Given the description of an element on the screen output the (x, y) to click on. 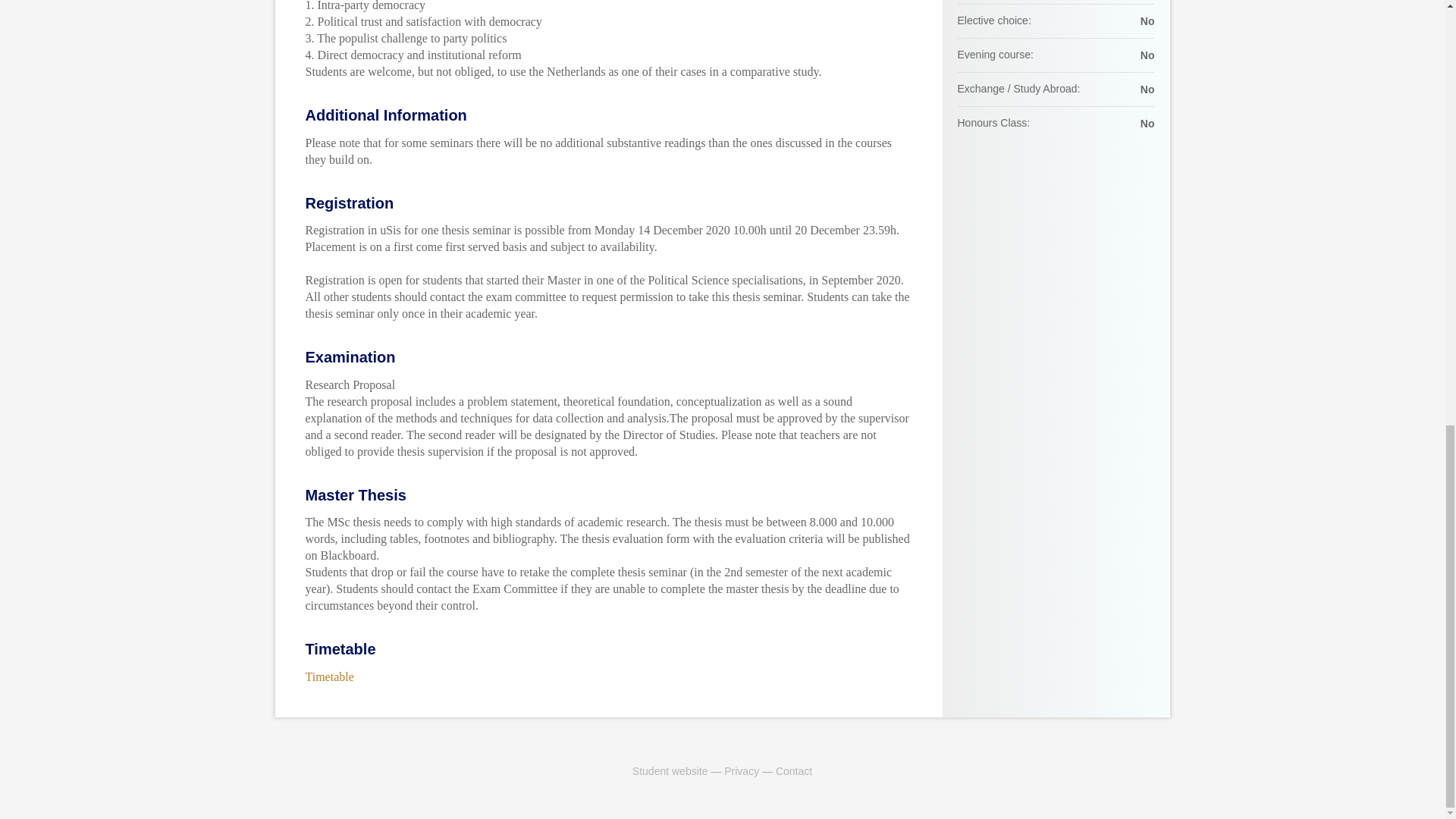
Privacy (740, 770)
Student website (669, 770)
Timetable (328, 676)
Contact (794, 770)
